Given the description of an element on the screen output the (x, y) to click on. 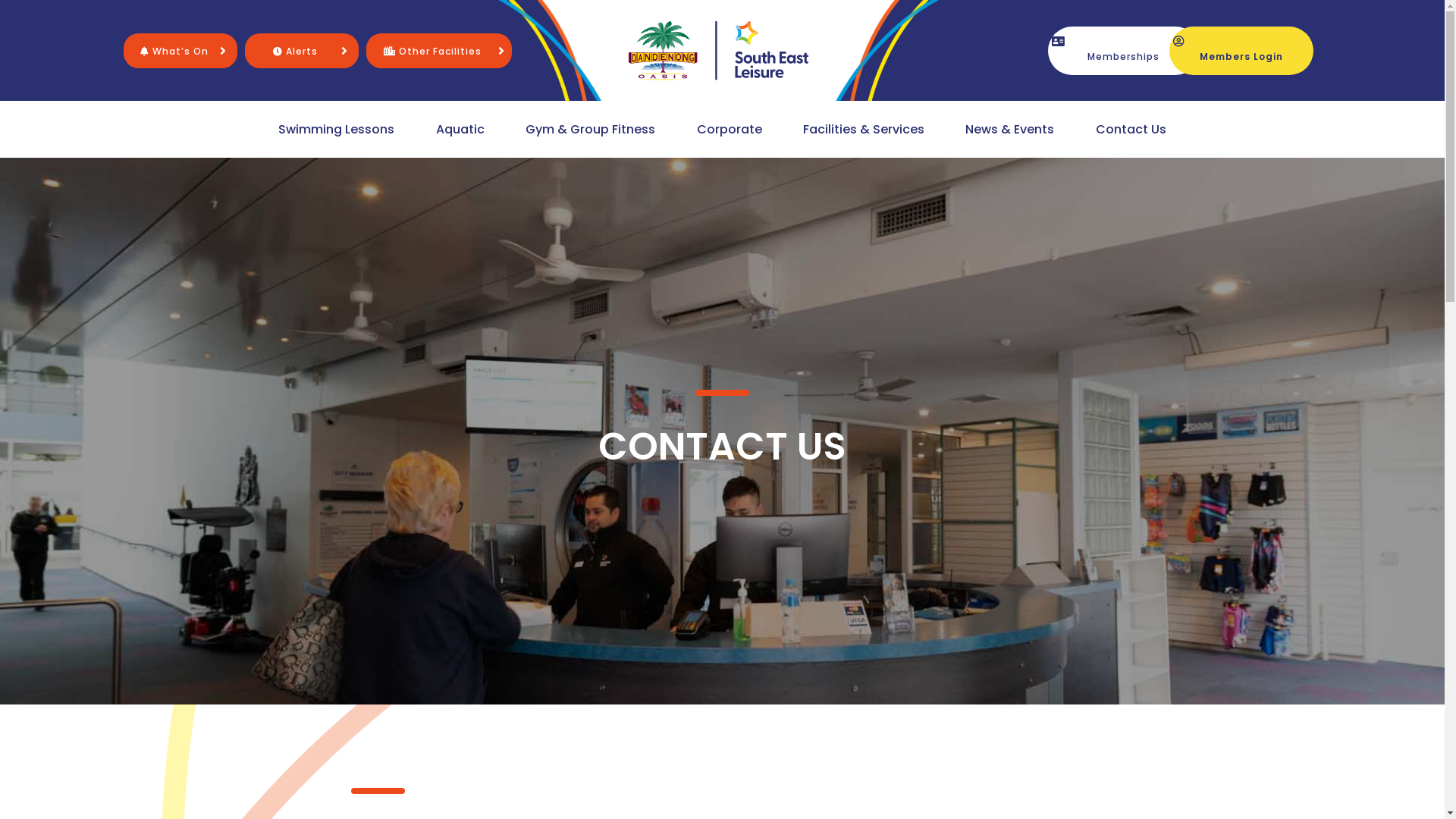
Other Facilities Element type: text (432, 49)
Members Login Element type: text (1241, 49)
Contact Us Element type: text (1131, 129)
Facilities & Services Element type: text (863, 129)
Alerts Element type: text (295, 49)
News & Events Element type: text (1009, 129)
Memberships Element type: text (1123, 49)
Gym & Group Fitness Element type: text (589, 129)
Corporate Element type: text (729, 129)
Swimming Lessons Element type: text (336, 129)
Aquatic Element type: text (460, 129)
